Given the description of an element on the screen output the (x, y) to click on. 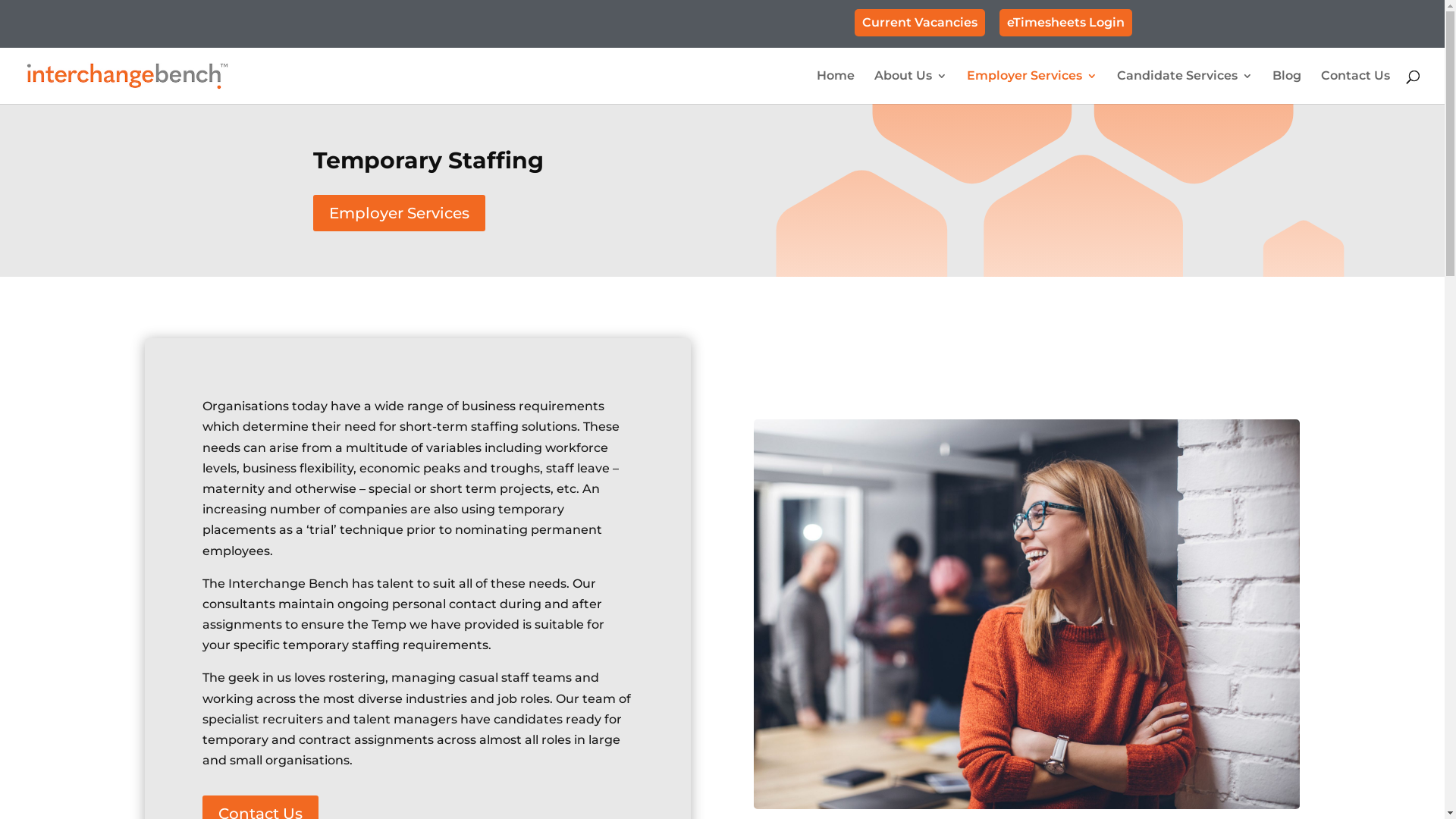
Employer Services Element type: text (1031, 86)
eTimesheets Login Element type: text (1065, 22)
Employer Services Element type: text (398, 212)
Contact Us Element type: text (1355, 86)
Home Element type: text (835, 86)
About Us Element type: text (910, 86)
Interchange Bench - 7 Element type: hover (1026, 614)
Current Vacancies Element type: text (918, 22)
Blog Element type: text (1286, 86)
Candidate Services Element type: text (1184, 86)
